Given the description of an element on the screen output the (x, y) to click on. 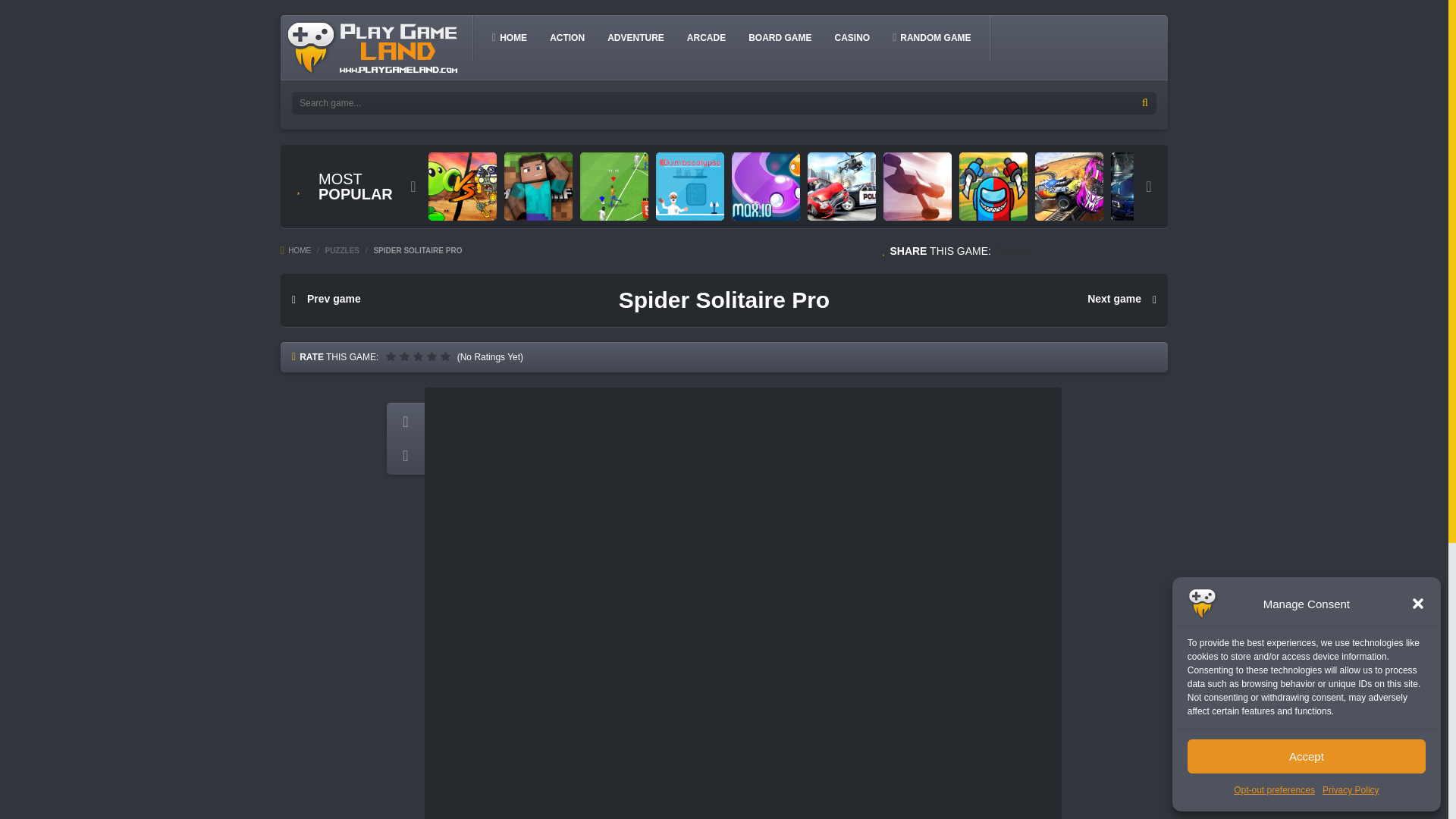
PUZZLES (341, 250)
HOME (296, 250)
ACTION (566, 37)
Twittear (1013, 250)
Play Game Land (373, 46)
RANDOM GAME (931, 37)
Opt-out preferences (1273, 790)
ADVENTURE (635, 37)
Search (1145, 102)
CASINO (852, 37)
BOARD GAME (779, 37)
Privacy Policy (1350, 790)
ARCADE (706, 37)
Accept (1306, 756)
Prev game (326, 298)
